Given the description of an element on the screen output the (x, y) to click on. 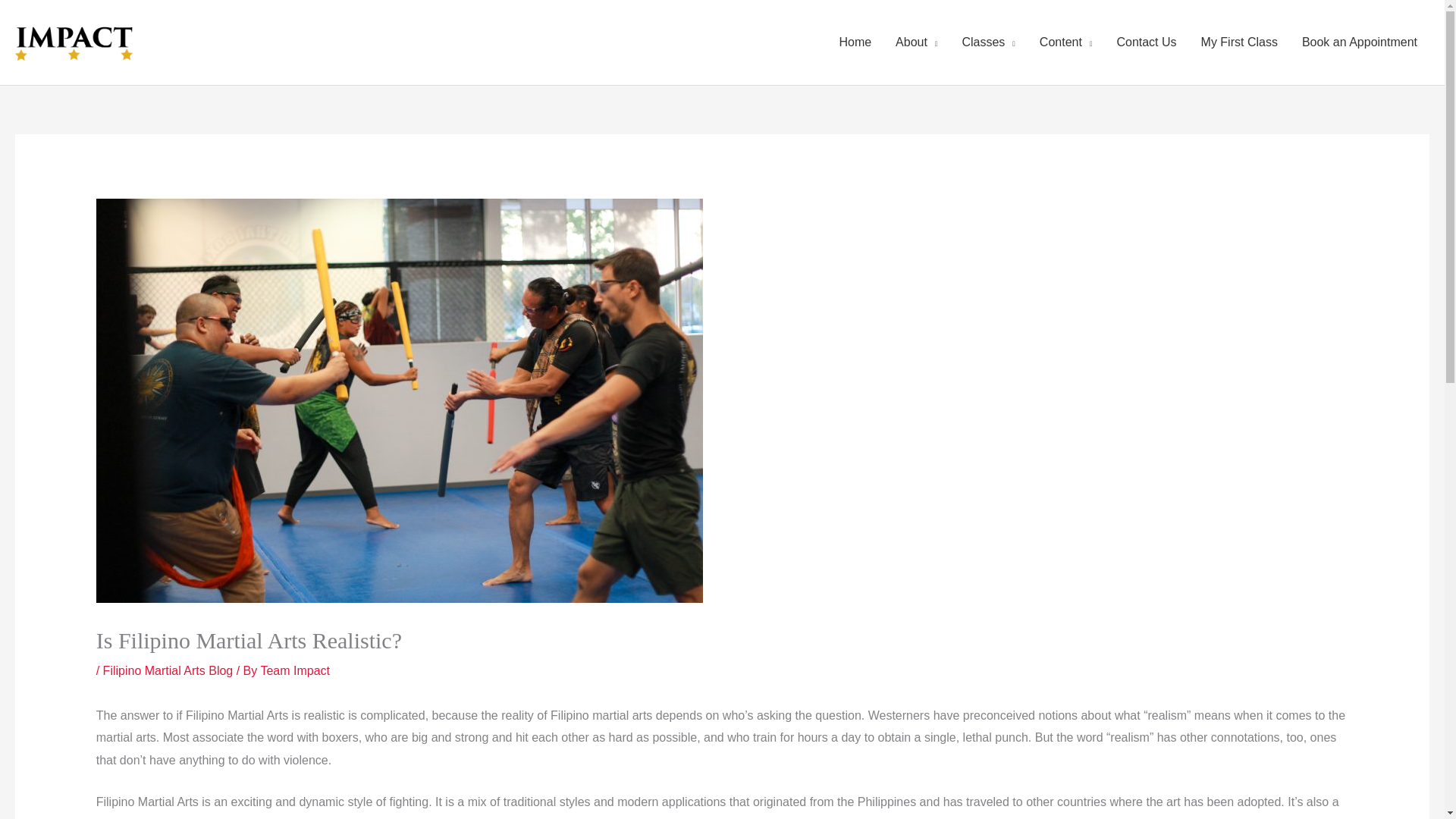
Classes (987, 42)
My First Class (1239, 42)
Team Impact (295, 670)
View all posts by Team Impact (295, 670)
About (916, 42)
Home (855, 42)
Book an Appointment (1359, 42)
Filipino Martial Arts Blog (167, 670)
Content (1066, 42)
